Given the description of an element on the screen output the (x, y) to click on. 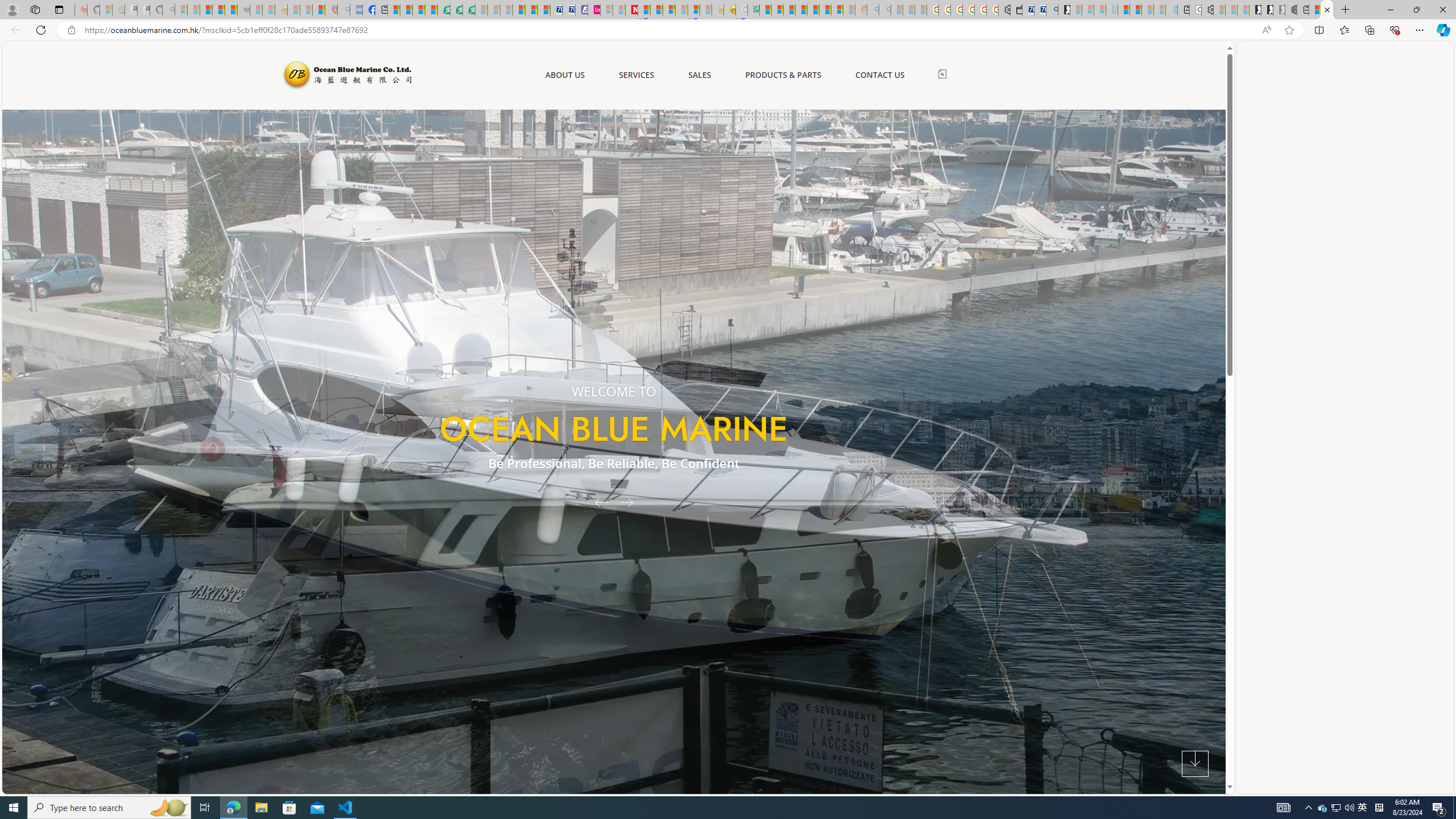
Previous Slide (596, 501)
Latest Politics News & Archive | Newsweek.com (631, 9)
ABOUT US (564, 74)
Jobs - lastminute.com Investor Portal (593, 9)
Next Slide (630, 501)
Kinda Frugal - MSN (824, 9)
Bing Real Estate - Home sales and rental listings (1051, 9)
